Given the description of an element on the screen output the (x, y) to click on. 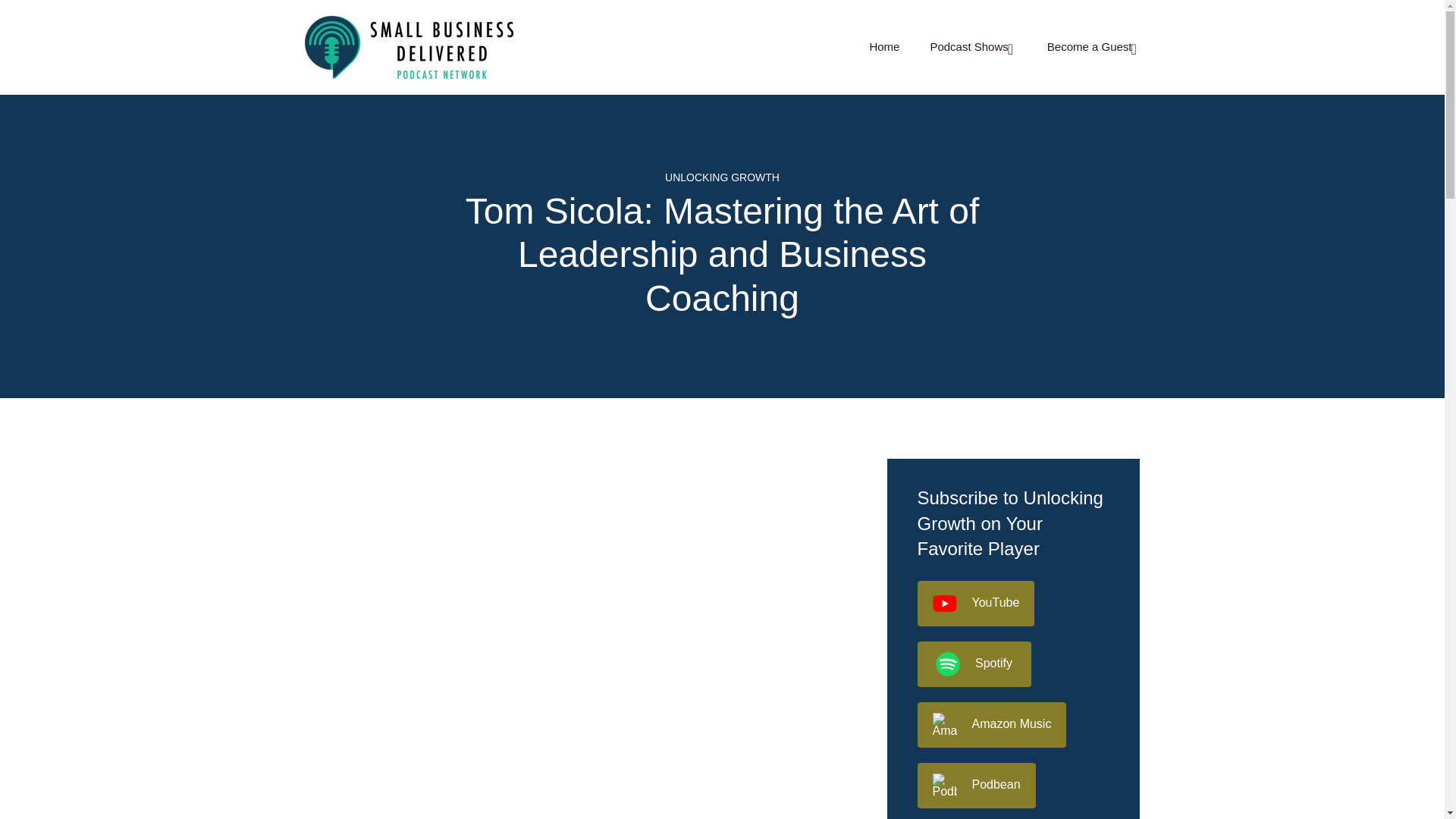
Home (884, 47)
Become a Guest (1093, 47)
Podcast Shows (973, 47)
